Given the description of an element on the screen output the (x, y) to click on. 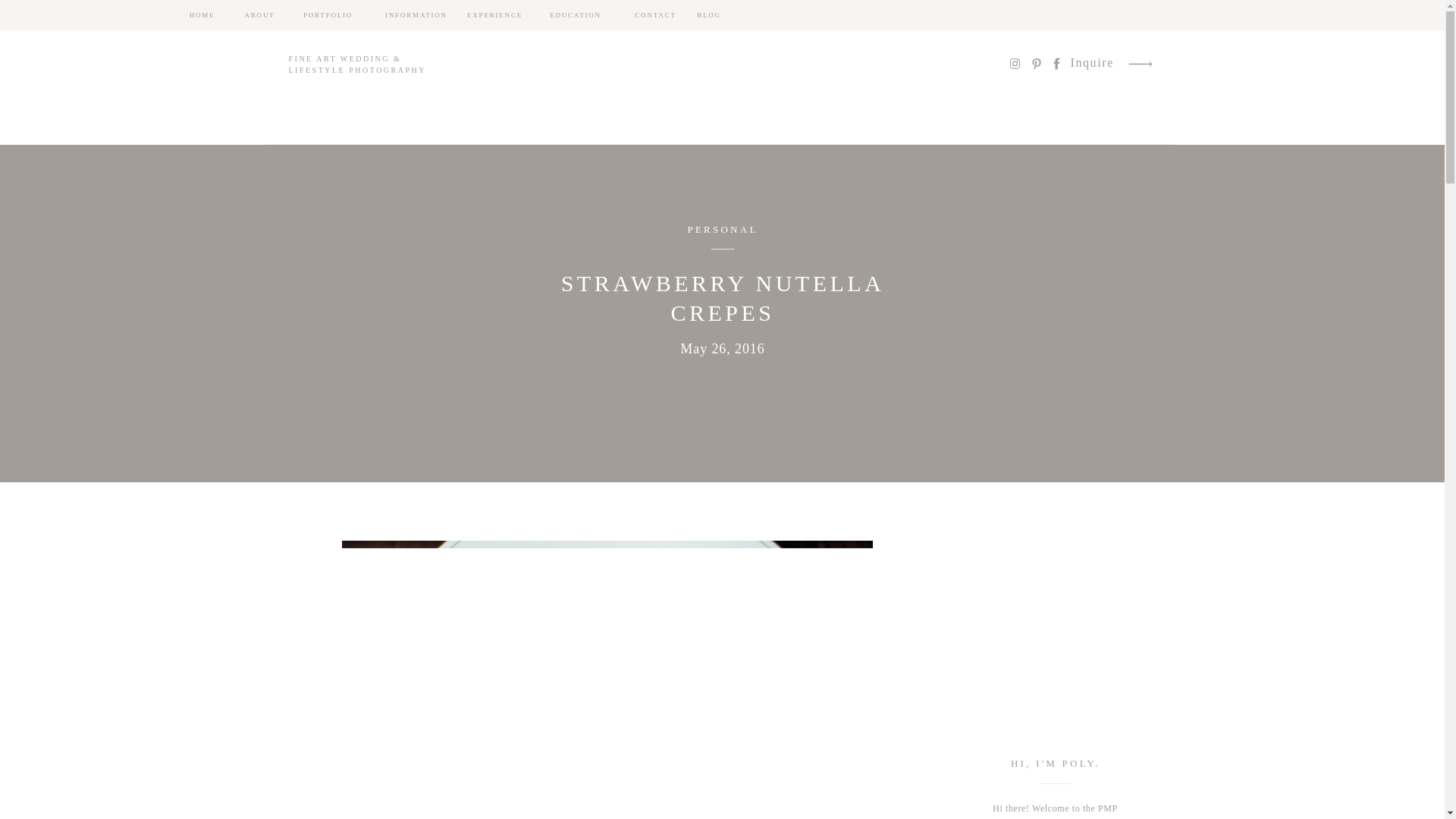
EXPERIENCE (494, 15)
PORTFOLIO (327, 15)
CONTACT (655, 15)
arrow (1140, 63)
ABOUT (259, 15)
BLOG (708, 15)
EDUCATION (575, 15)
INFORMATION (415, 15)
HOME (201, 15)
